Given the description of an element on the screen output the (x, y) to click on. 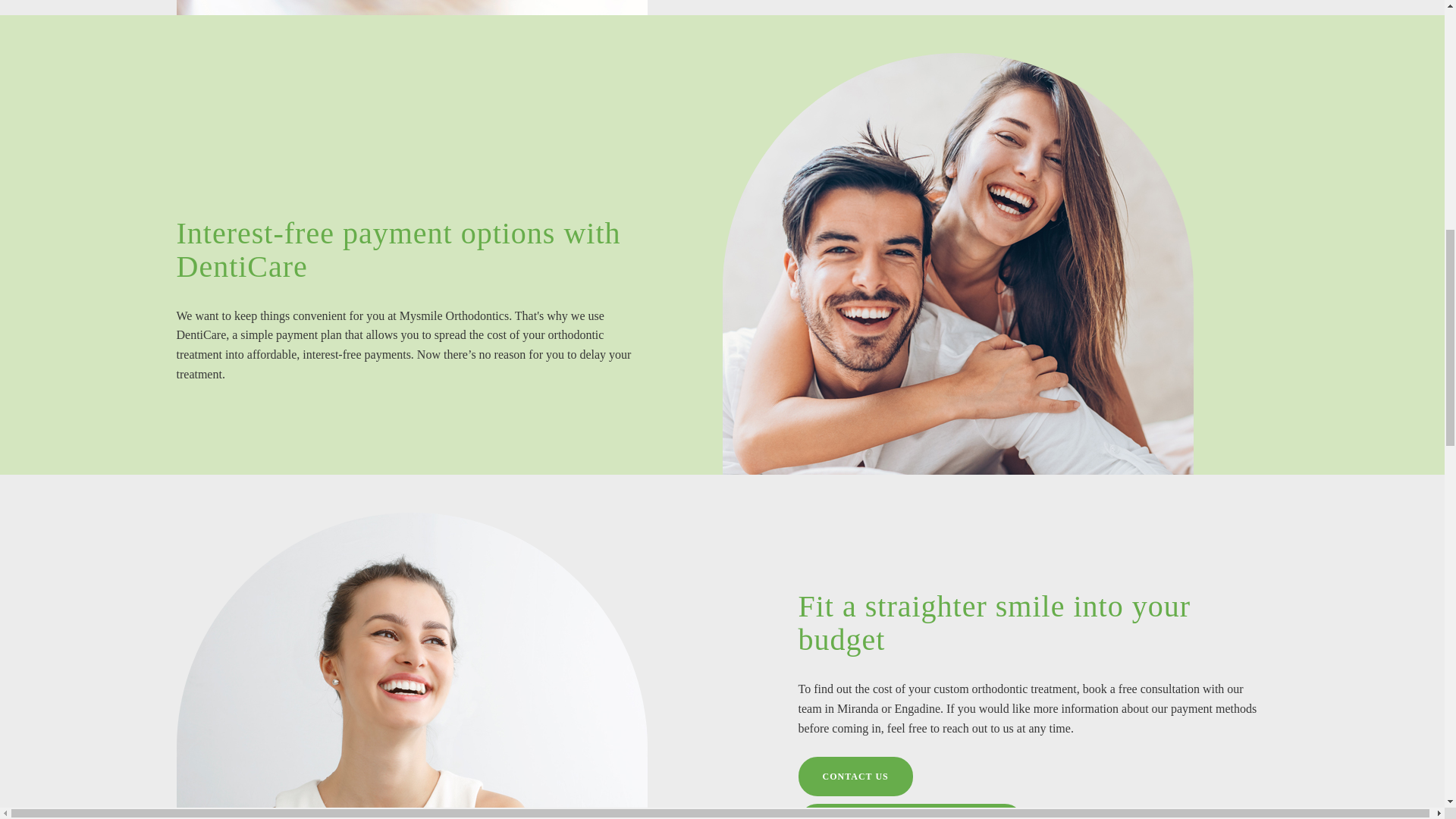
Contact us (854, 776)
Cost (411, 7)
Book your free consultation (910, 811)
